Given the description of an element on the screen output the (x, y) to click on. 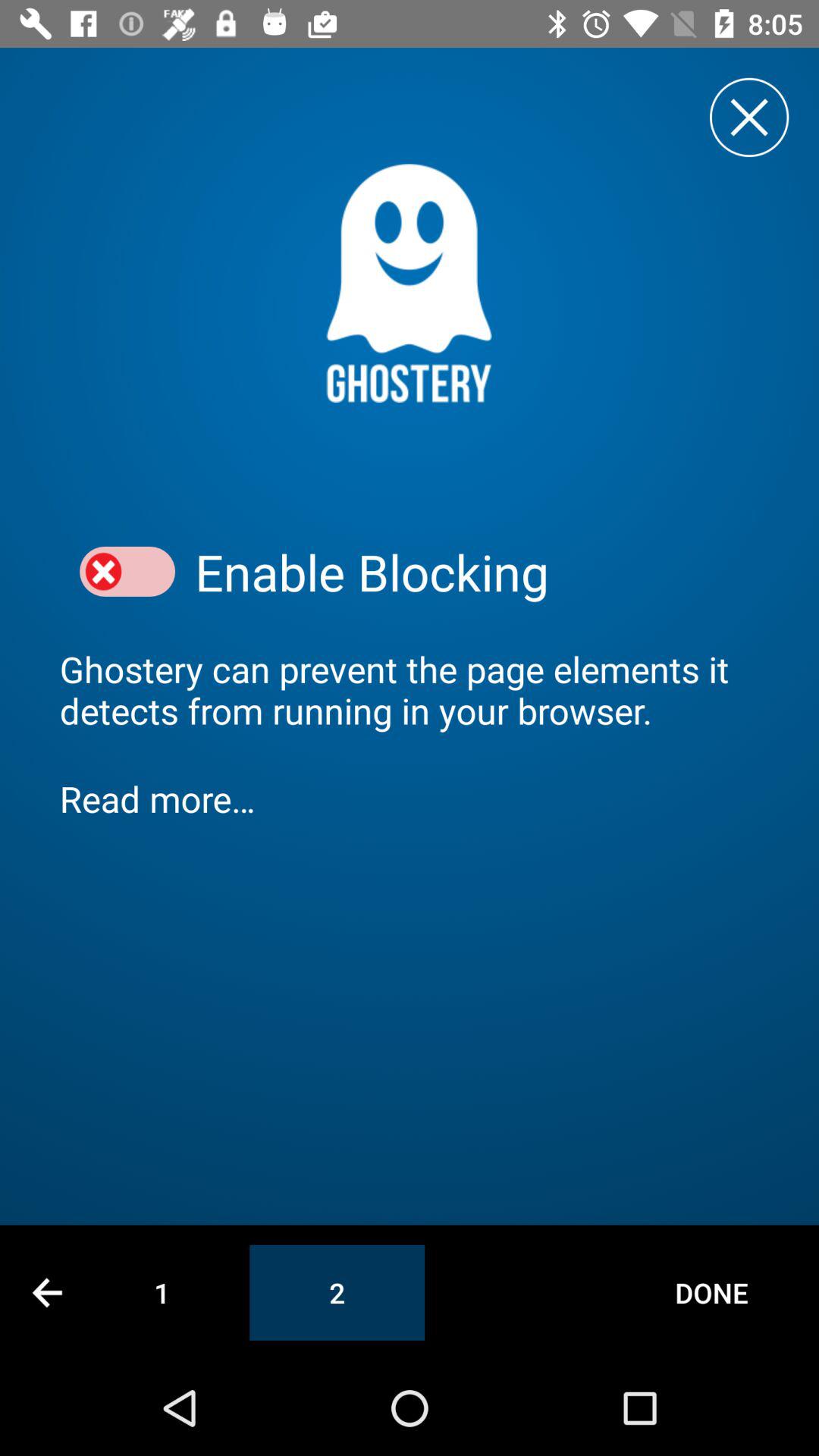
choose item to the left of done item (336, 1292)
